Given the description of an element on the screen output the (x, y) to click on. 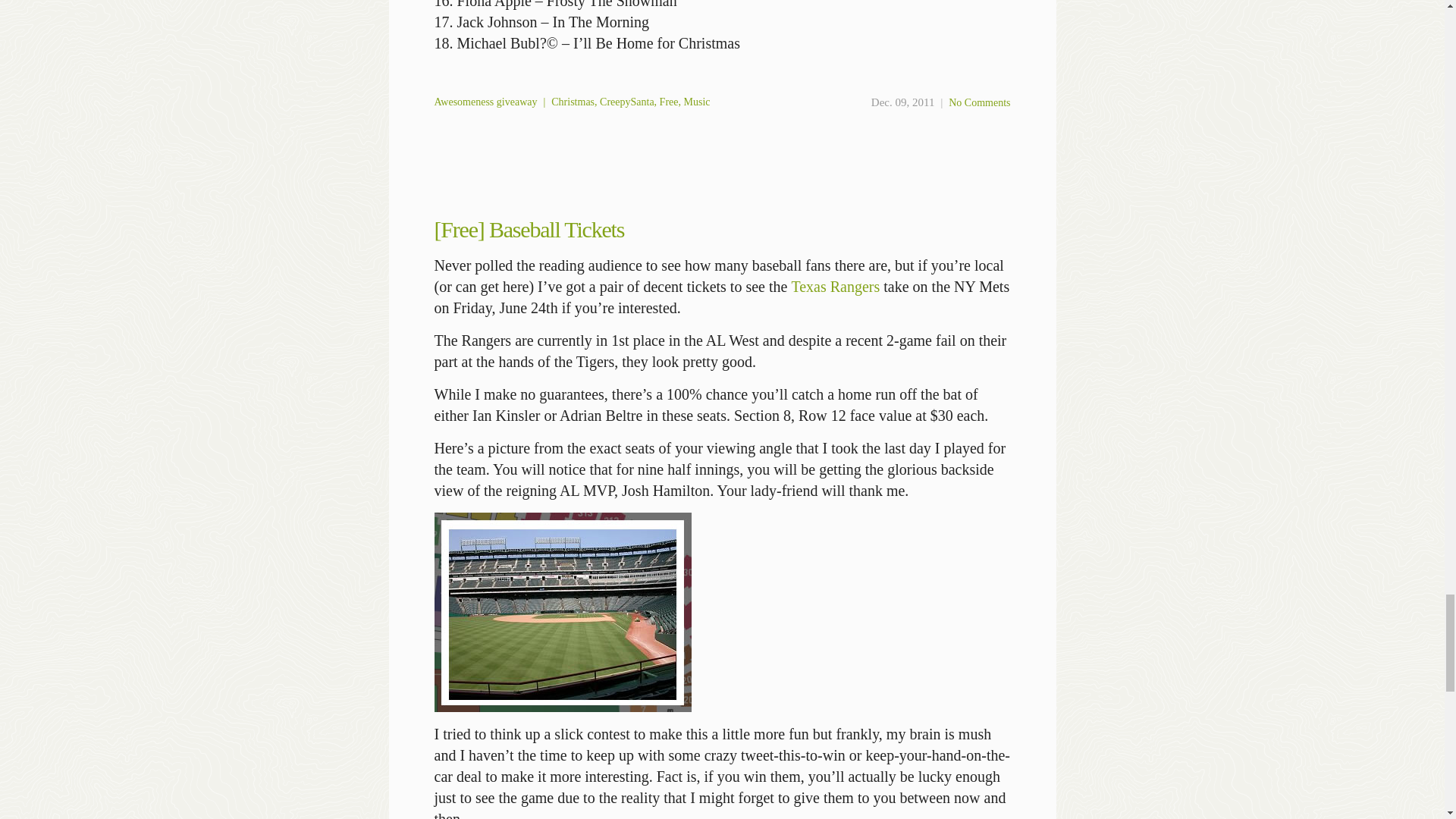
Josh Hamilton's Rear (561, 611)
